Given the description of an element on the screen output the (x, y) to click on. 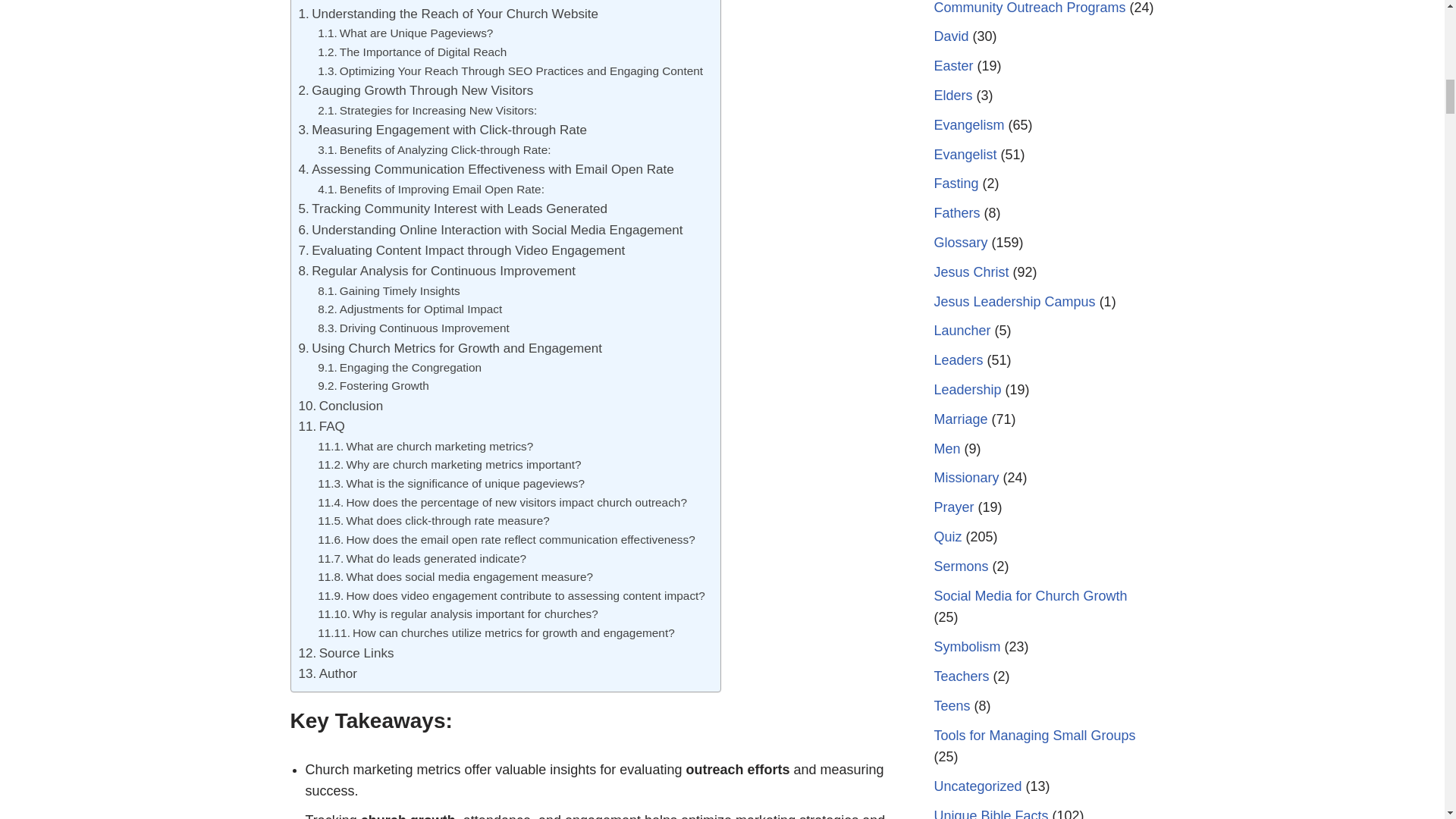
What are Unique Pageviews? (405, 33)
Gauging Growth Through New Visitors (416, 90)
Key Takeaways: (373, 2)
The Importance of Digital Reach (411, 52)
Understanding the Reach of Your Church Website (448, 14)
